Given the description of an element on the screen output the (x, y) to click on. 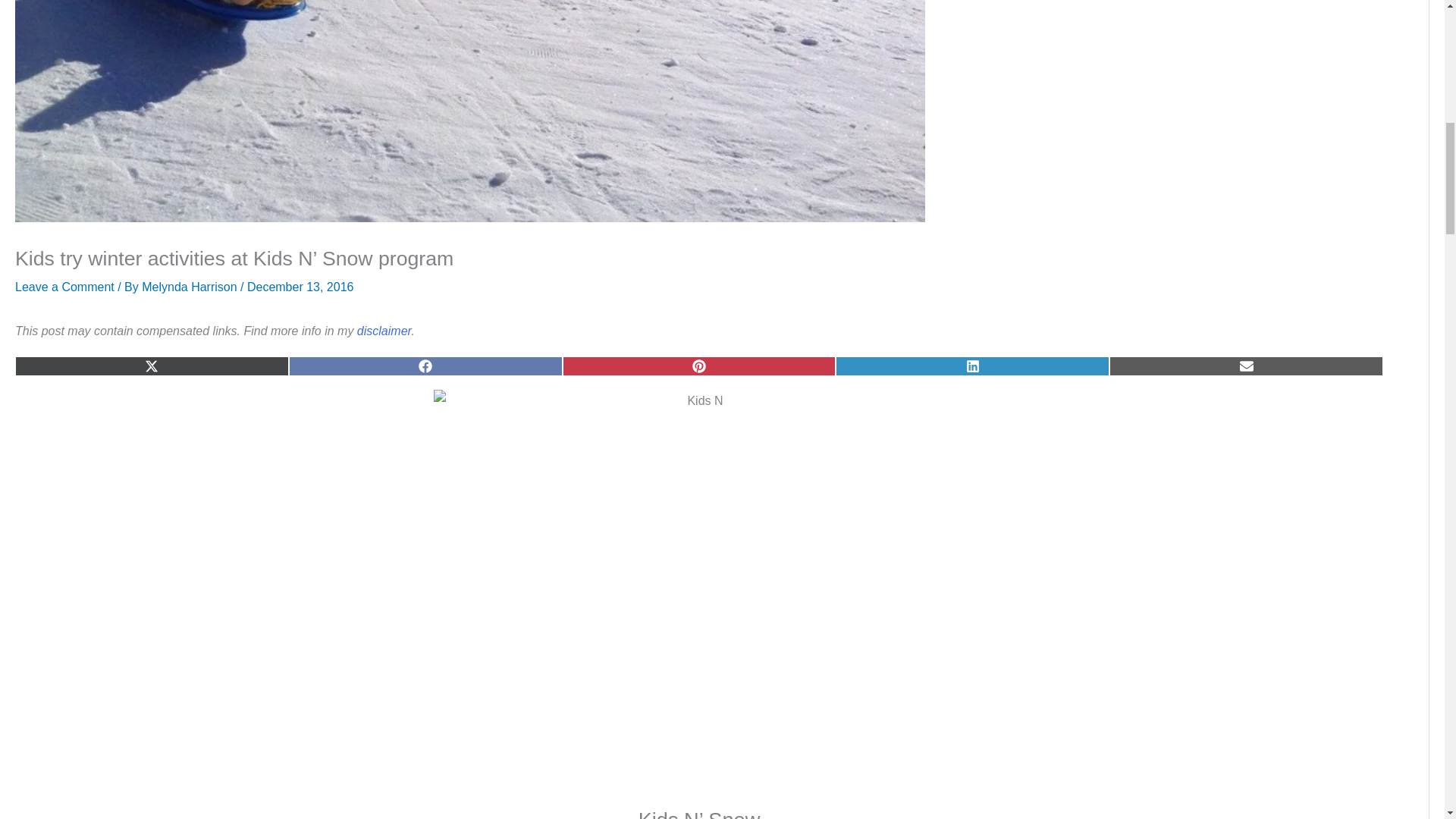
Share on Facebook (425, 365)
disclaimer (383, 330)
Share on Pinterest (698, 365)
Melynda Harrison (190, 286)
Share on Email (1246, 365)
View all posts by Melynda Harrison (190, 286)
Share on LinkedIn (972, 365)
Leave a Comment (64, 286)
